Given the description of an element on the screen output the (x, y) to click on. 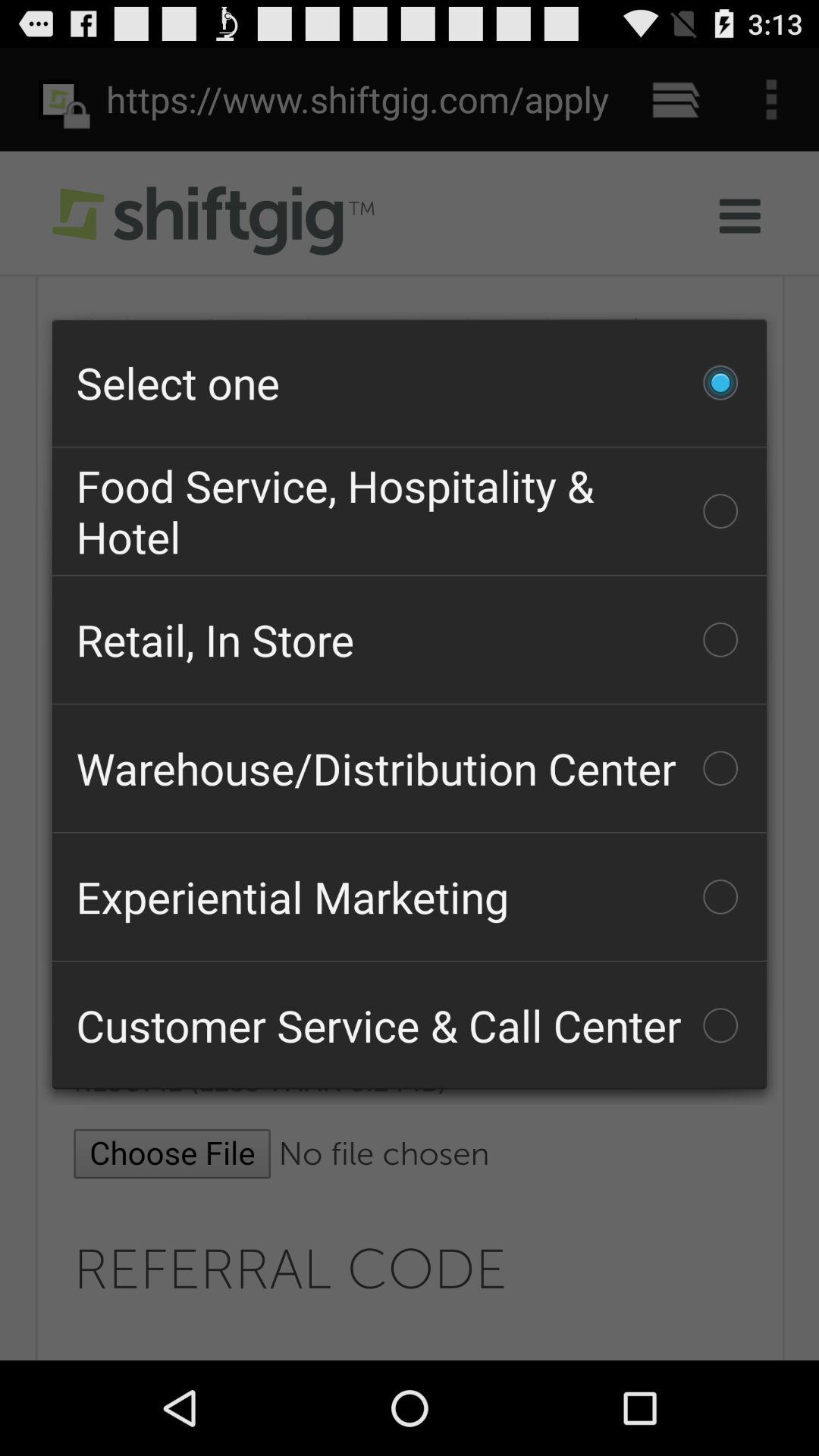
choose the item above warehouse/distribution center item (409, 639)
